Given the description of an element on the screen output the (x, y) to click on. 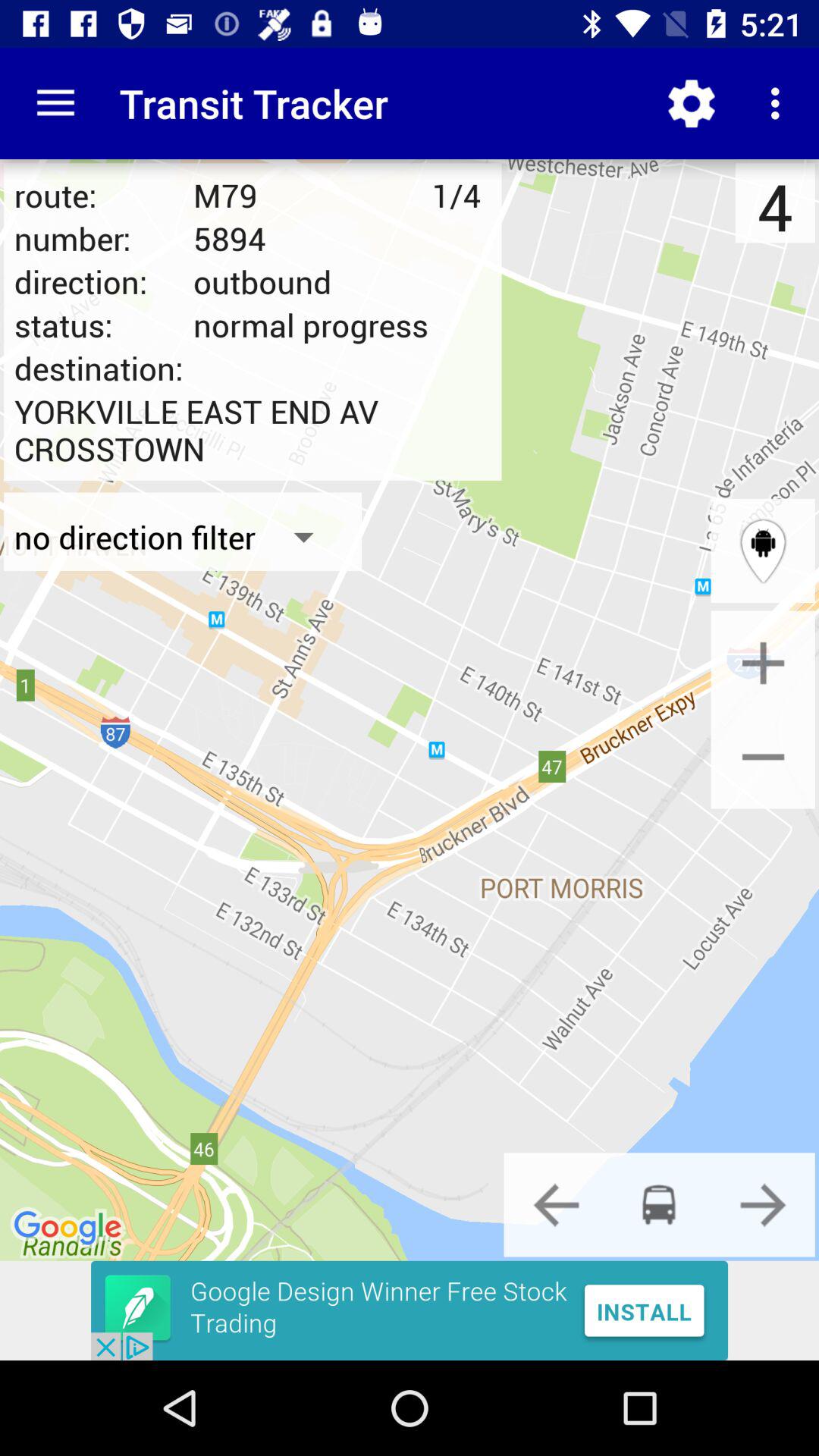
zoom in page (762, 662)
